Given the description of an element on the screen output the (x, y) to click on. 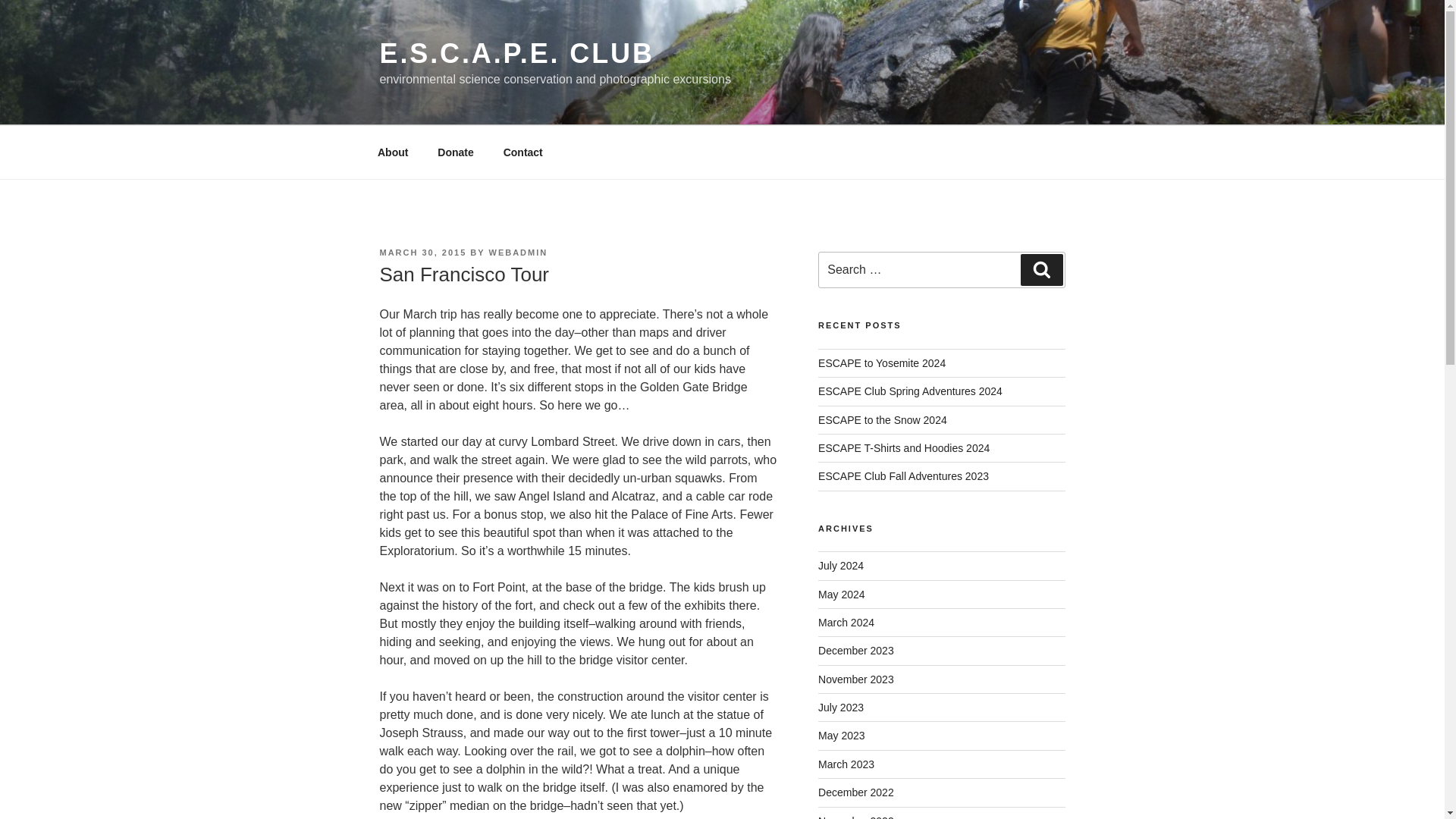
December 2022 (855, 792)
Contact (522, 151)
March 2023 (846, 764)
ESCAPE to Yosemite 2024 (881, 363)
Search (1041, 269)
MARCH 30, 2015 (421, 252)
Donate (455, 151)
ESCAPE Club Spring Adventures 2024 (910, 390)
ESCAPE T-Shirts and Hoodies 2024 (904, 448)
November 2023 (855, 679)
July 2023 (840, 707)
May 2024 (841, 594)
December 2023 (855, 650)
About (392, 151)
WEBADMIN (518, 252)
